Given the description of an element on the screen output the (x, y) to click on. 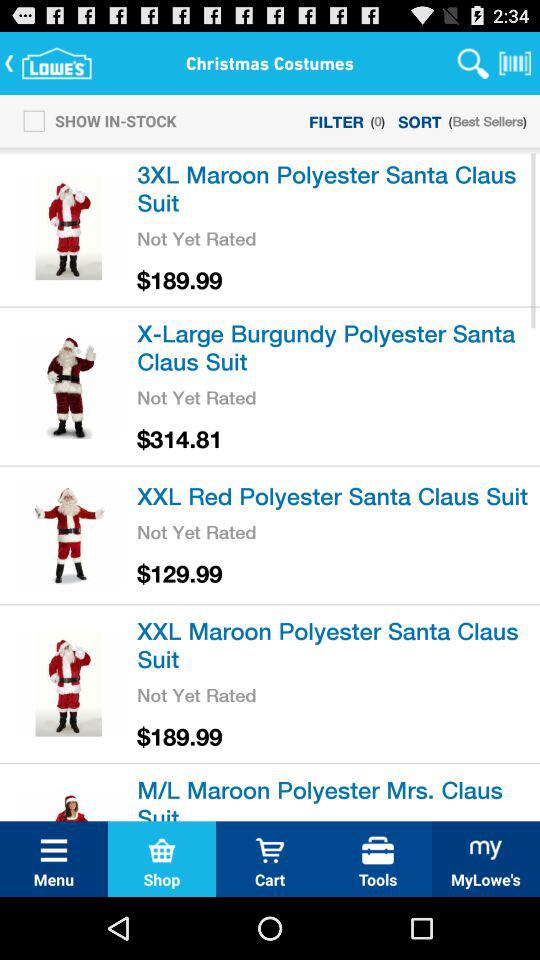
turn off icon next to show in-stock item (336, 120)
